Given the description of an element on the screen output the (x, y) to click on. 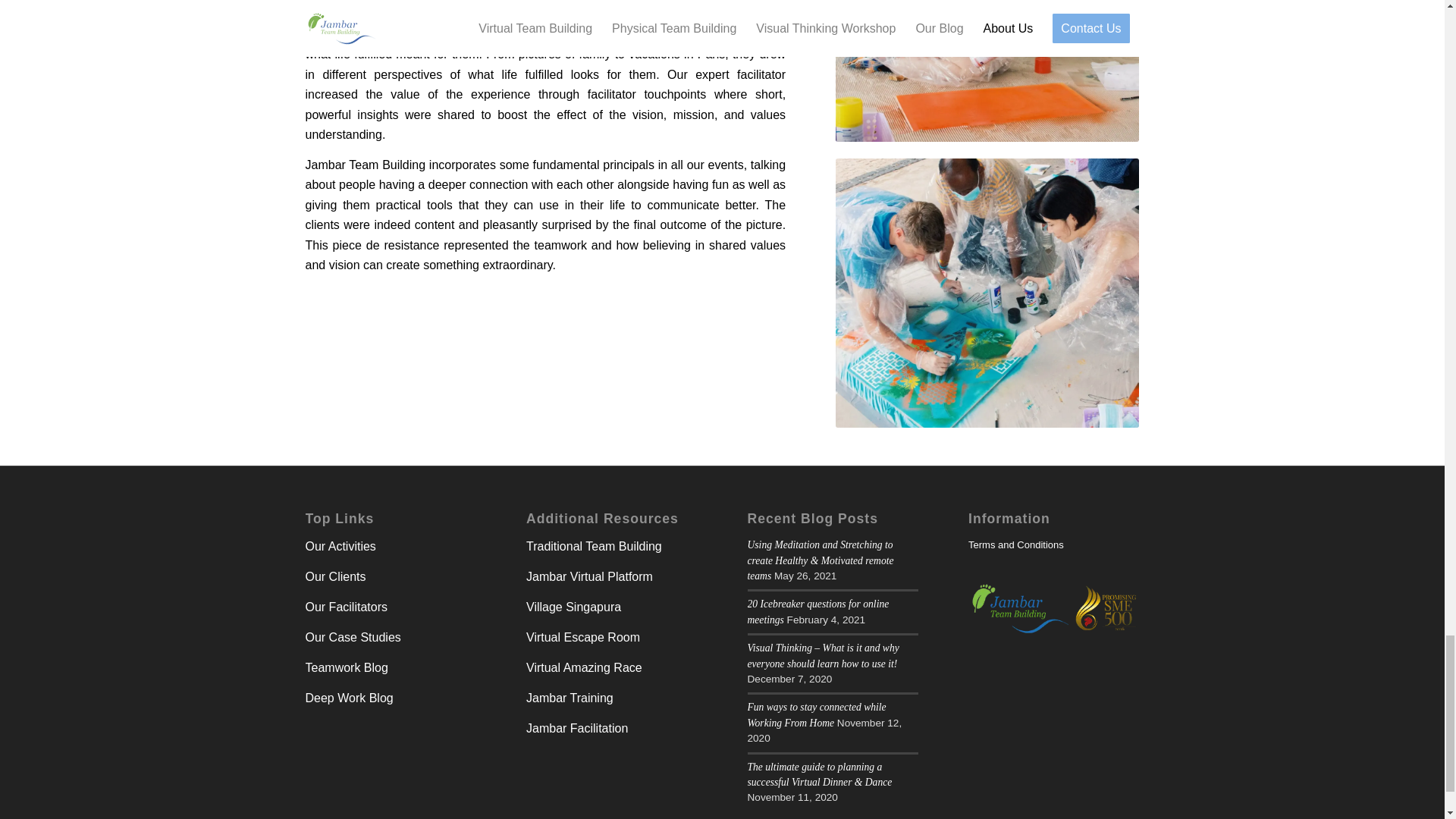
Processed with VSCO with g3 preset (986, 70)
Fun ways to stay connected while Working From Home (817, 714)
Terms and Conditions (1054, 545)
Our Case Studies (352, 636)
Jambar Virtual Platform (588, 576)
Jambar Training (568, 697)
Virtual Escape Room (582, 636)
20 Icebreaker questions for online meetings (818, 611)
Traditional Team Building (593, 545)
Our Activities (339, 545)
Our Clients (334, 576)
Deep Work Blog (348, 697)
Virtual Amazing Race (583, 667)
Processed with VSCO with g3 preset (986, 292)
Village Singapura (573, 606)
